Given the description of an element on the screen output the (x, y) to click on. 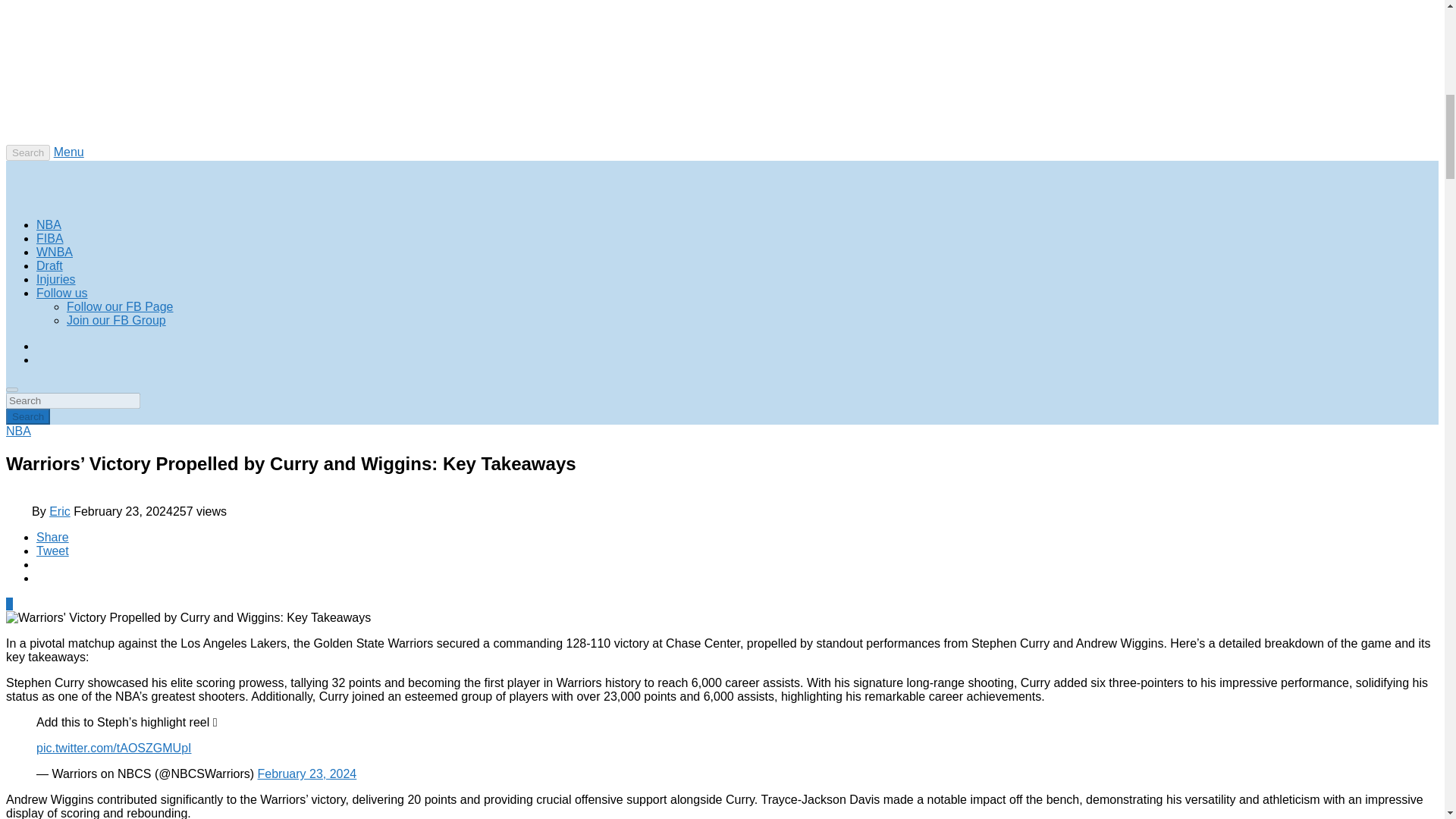
Posts by Eric (59, 511)
Tweet (52, 550)
Search (27, 152)
Follow us (61, 292)
Share on Twitter (52, 550)
Join our FB Group (115, 319)
NBA (48, 224)
Search (27, 416)
Menu (68, 151)
WNBA (54, 251)
